Given the description of an element on the screen output the (x, y) to click on. 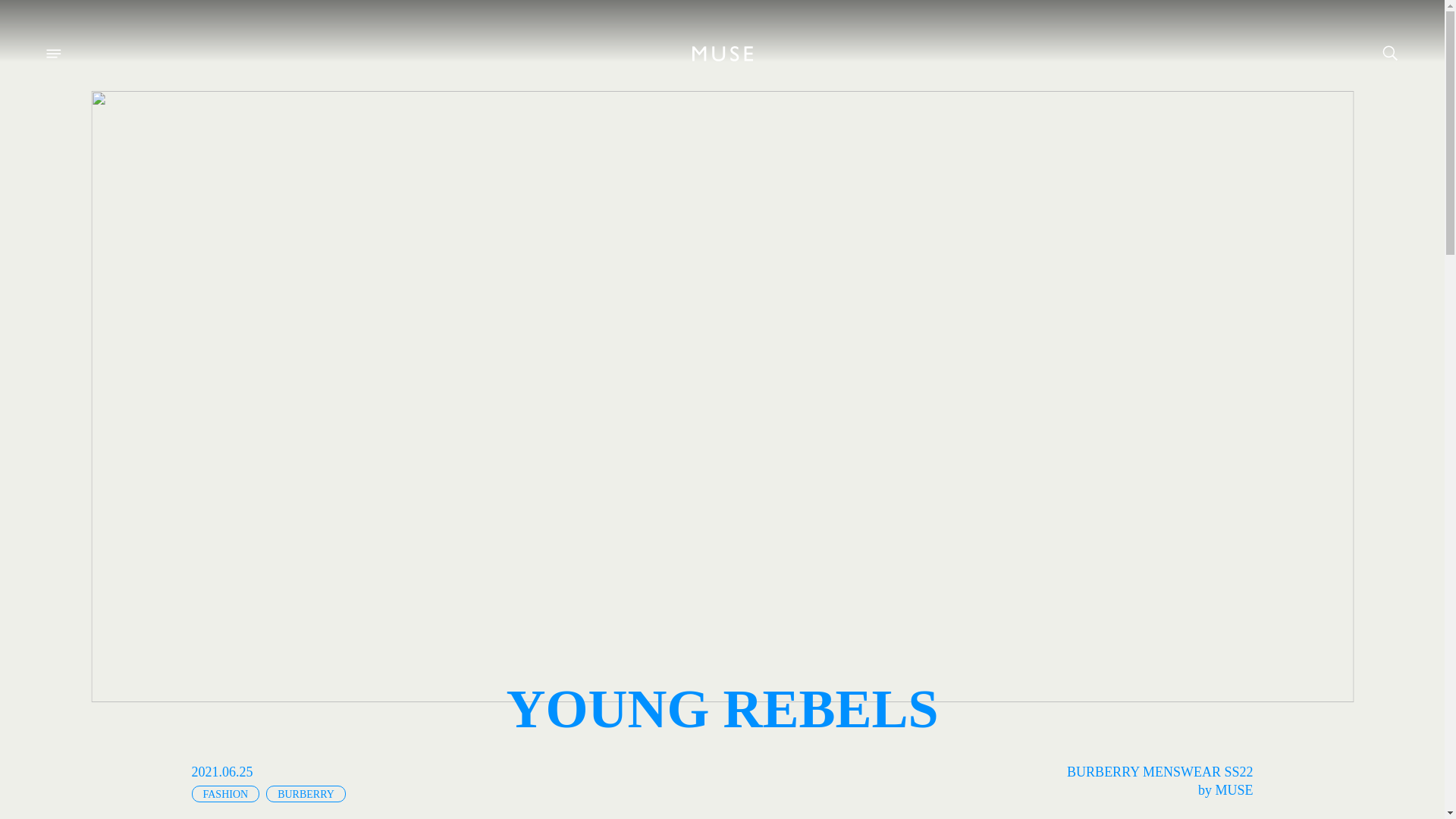
BURBERRY (306, 793)
FASHION (224, 793)
